Given the description of an element on the screen output the (x, y) to click on. 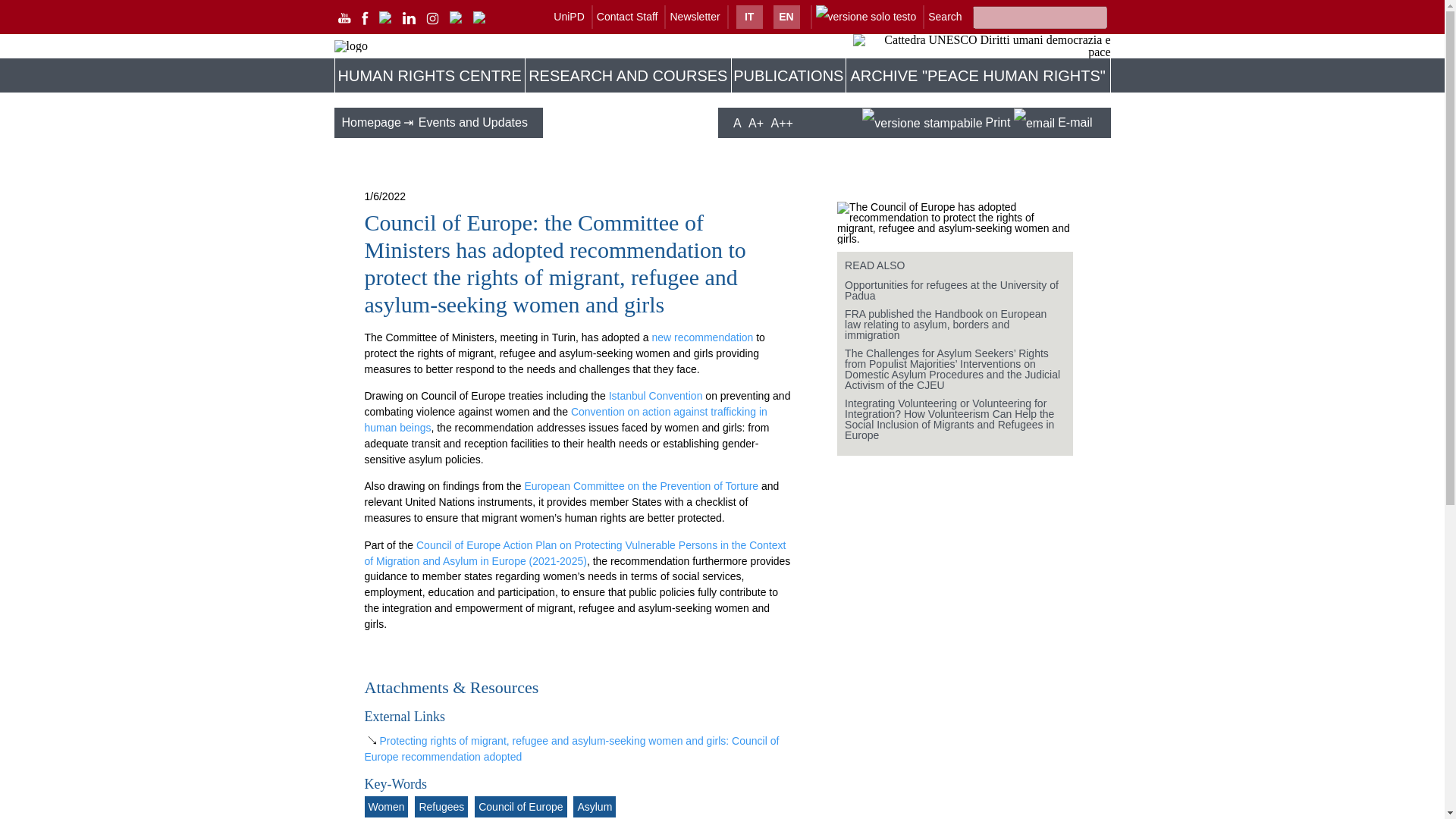
IT (749, 16)
Contact Staff (627, 16)
UniPD (568, 16)
Newsletter (694, 16)
EN (786, 16)
